Given the description of an element on the screen output the (x, y) to click on. 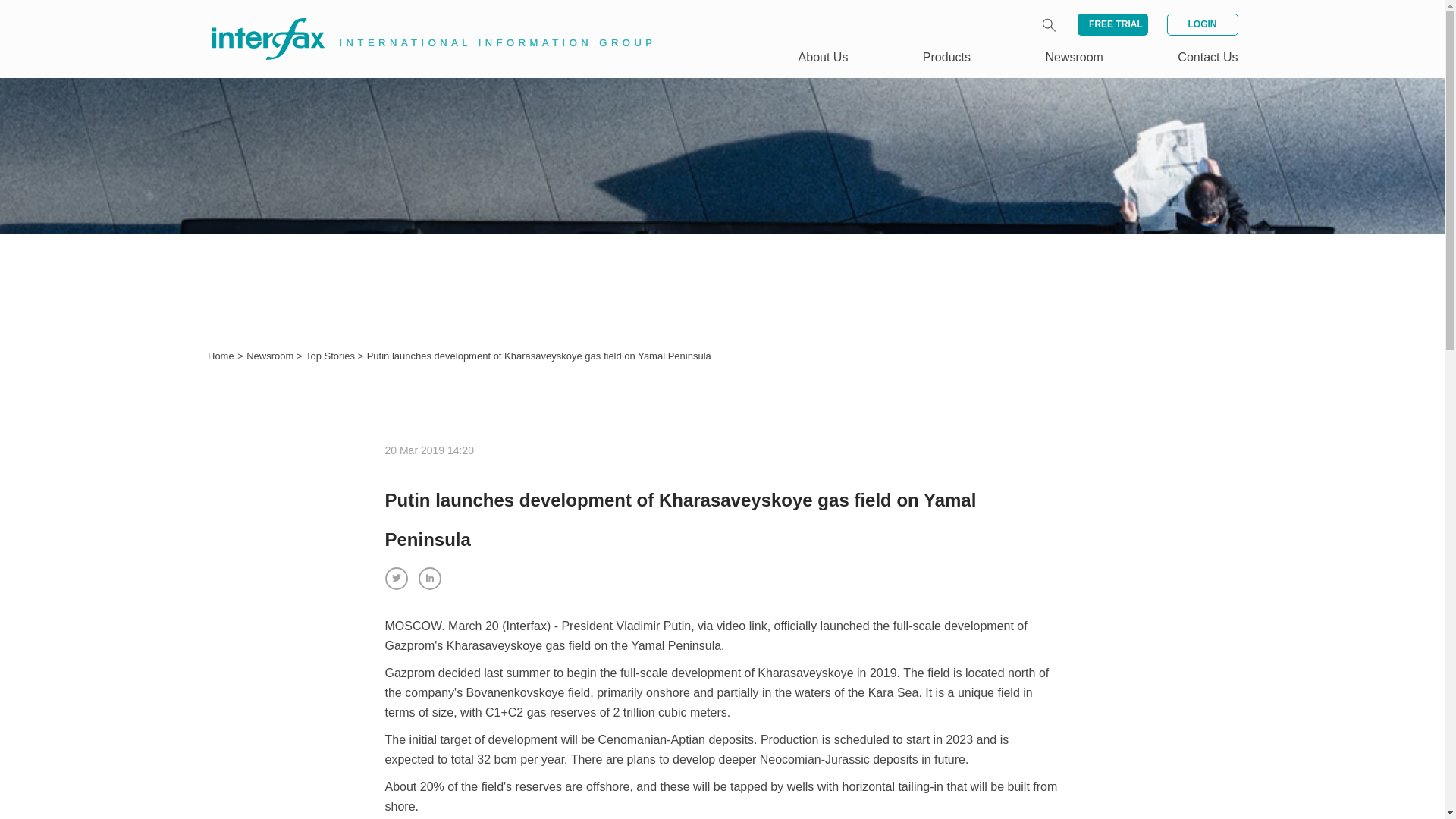
FREE TRIAL (1112, 24)
About Us (822, 56)
Contact Us (1207, 56)
Newsroom (271, 355)
Newsroom (271, 355)
Contact Us (1207, 56)
Newsroom (1073, 56)
LOGIN (1201, 24)
Top Stories (331, 355)
INTERNATIONAL INFORMATION GROUP (421, 20)
